Given the description of an element on the screen output the (x, y) to click on. 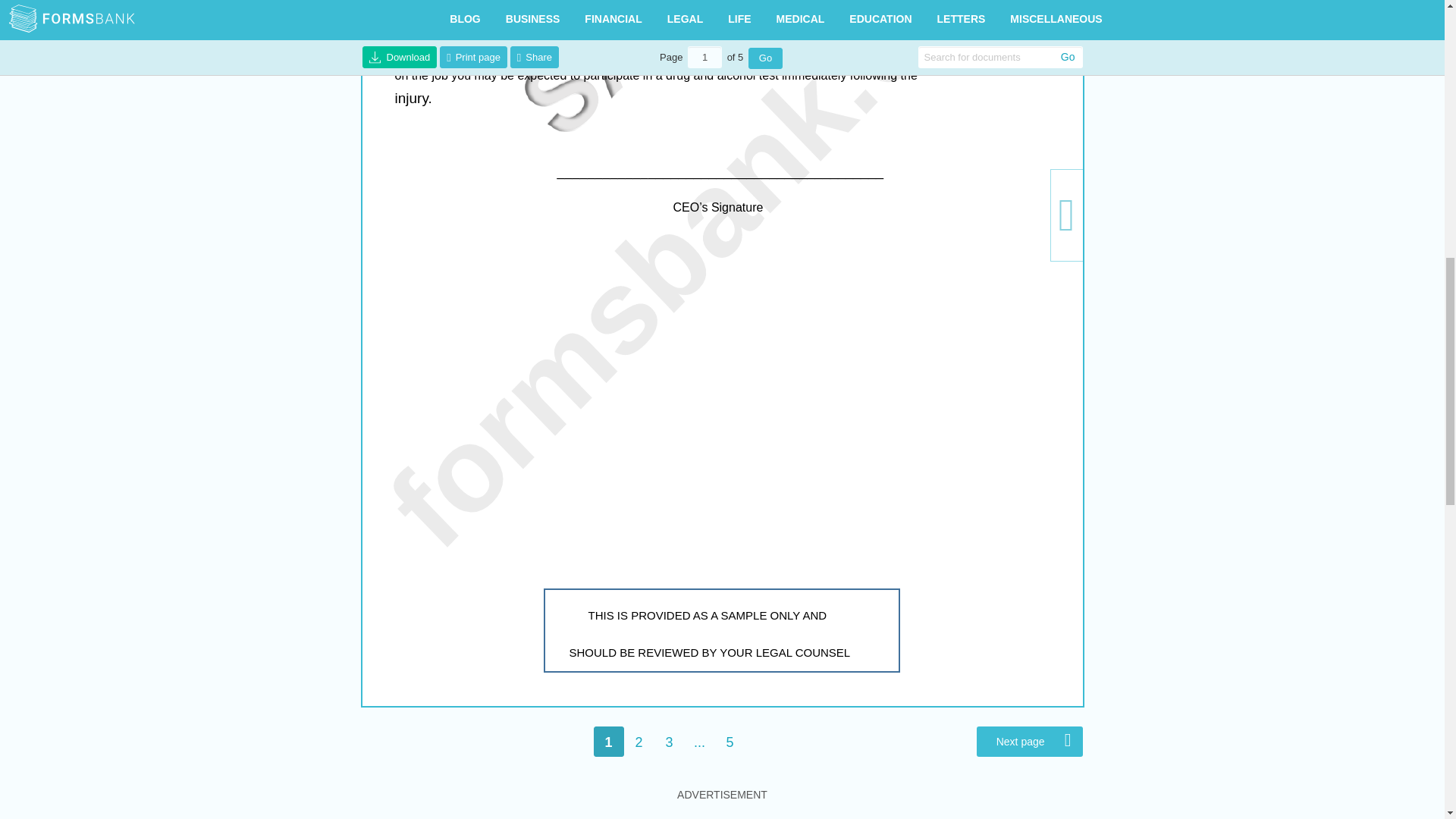
3 (668, 741)
Advertisement (1200, 93)
Next page (1029, 741)
5 (729, 741)
1 (607, 741)
2 (638, 741)
... (699, 741)
